Given the description of an element on the screen output the (x, y) to click on. 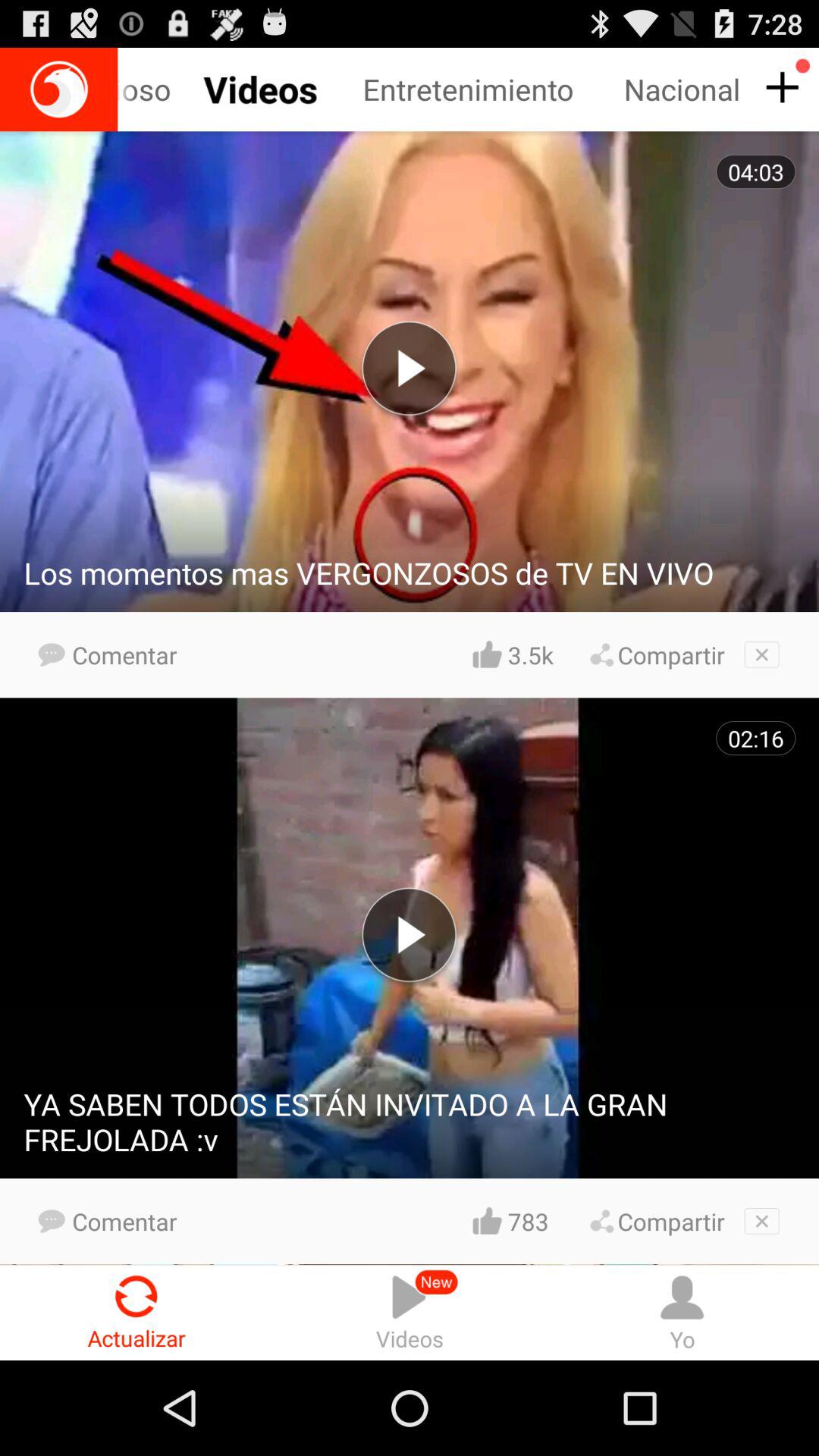
turn off icon to the left of the nacional app (492, 89)
